Given the description of an element on the screen output the (x, y) to click on. 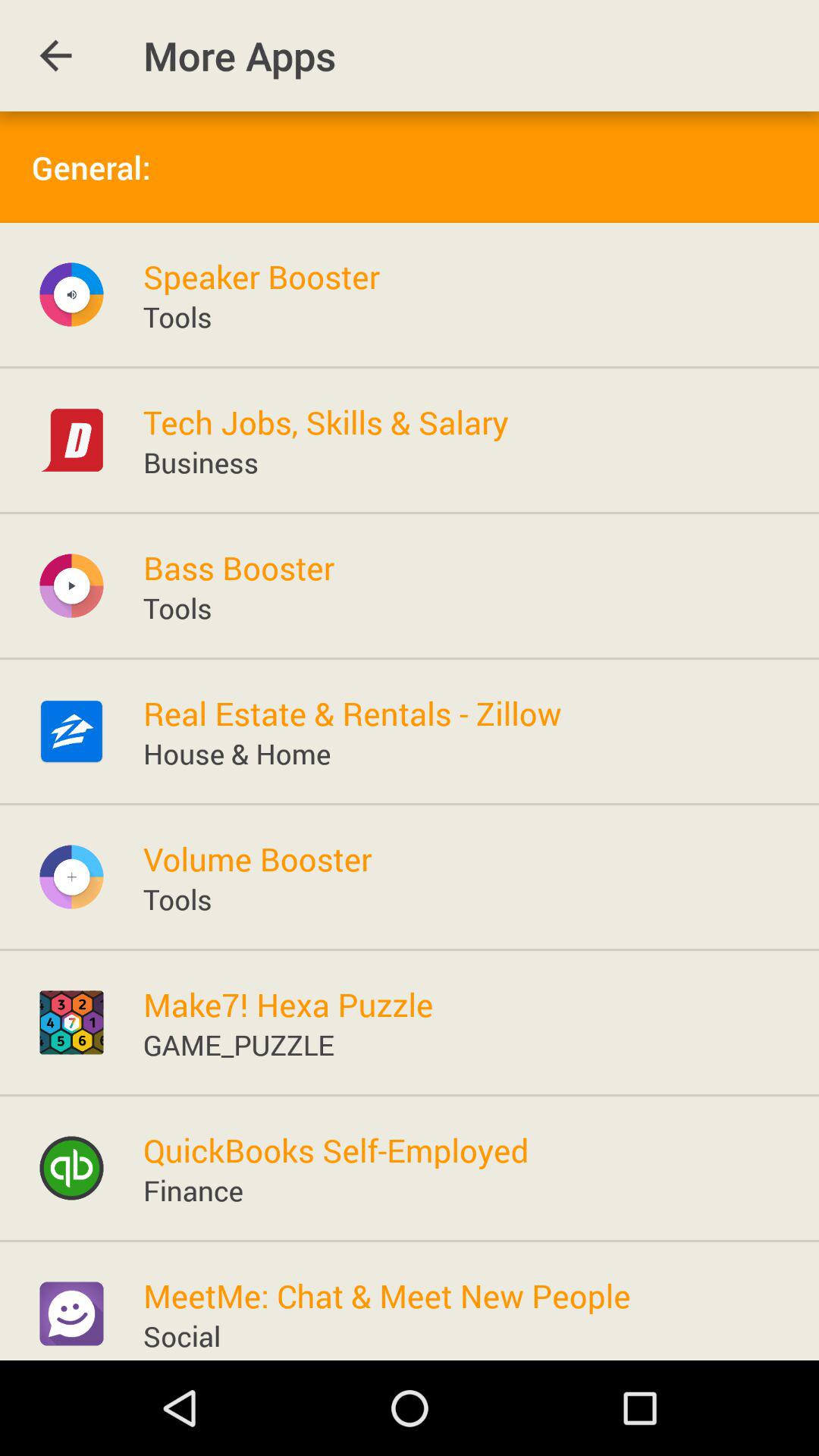
press item next to more apps app (55, 55)
